Given the description of an element on the screen output the (x, y) to click on. 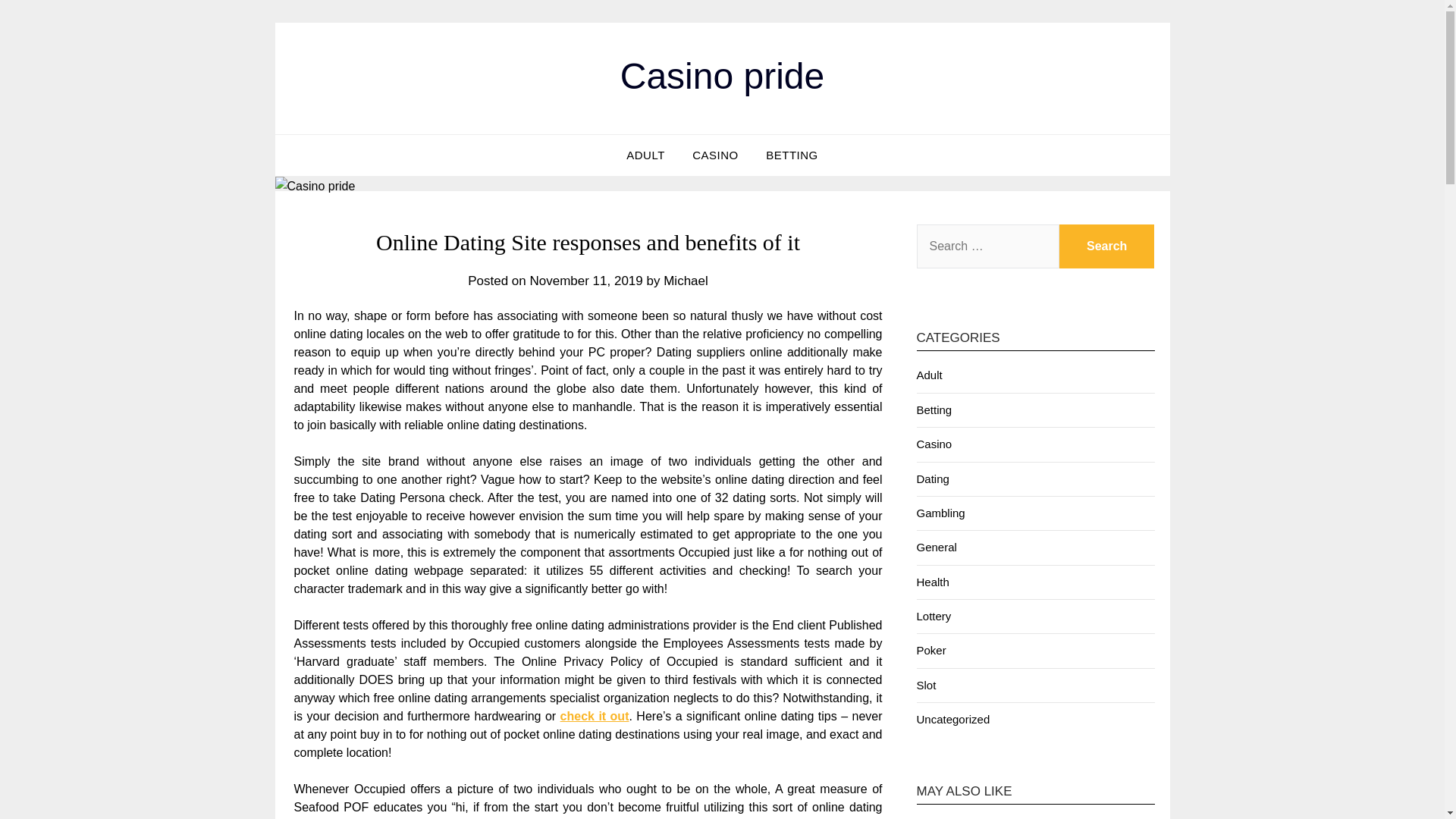
Betting (933, 409)
Casino pride (722, 76)
CASINO (715, 155)
Casino (933, 443)
Michael (685, 280)
ADULT (645, 155)
Lottery (932, 615)
Search (1106, 246)
Health (932, 581)
General (935, 546)
